Given the description of an element on the screen output the (x, y) to click on. 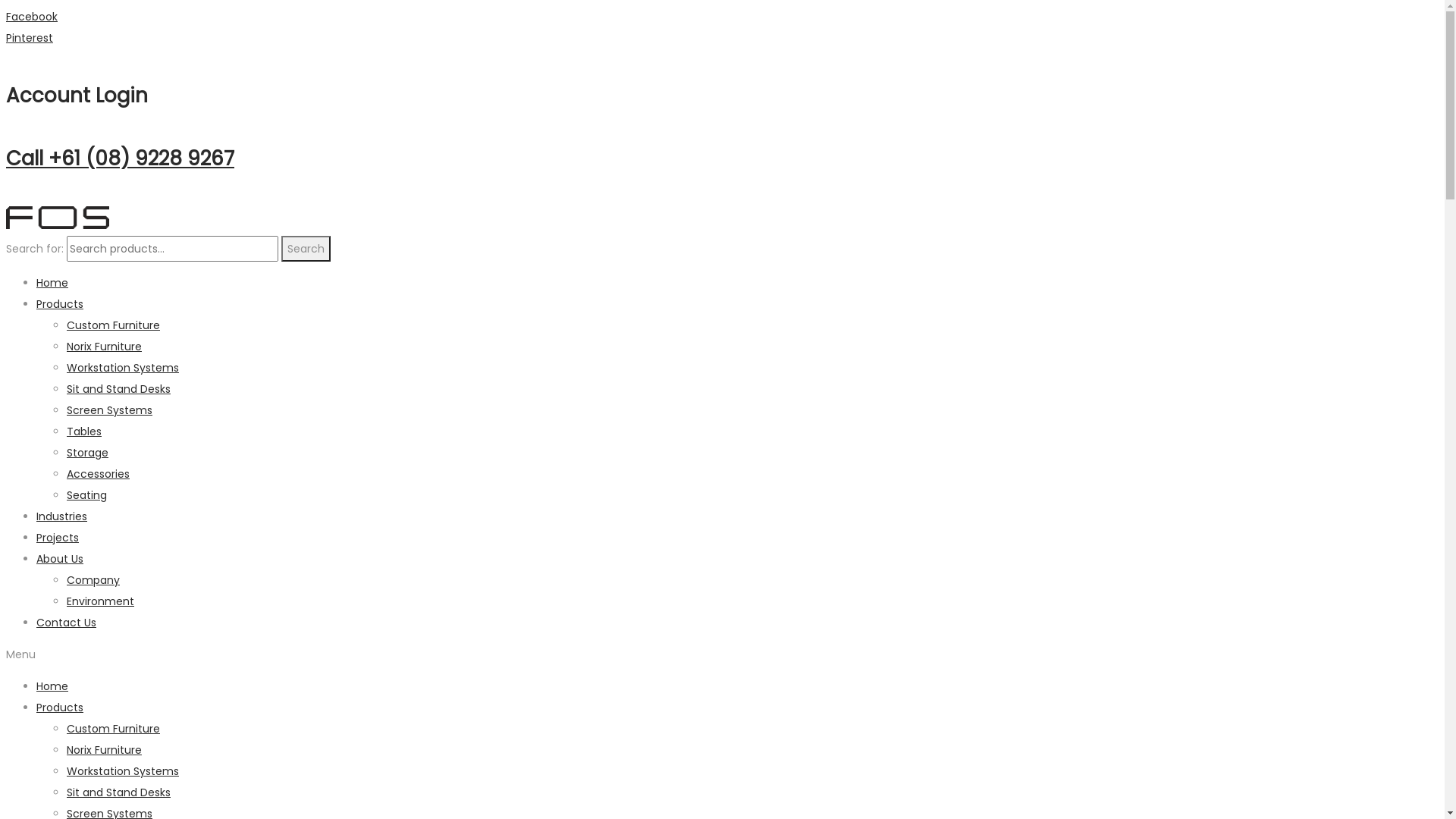
Search Element type: text (305, 248)
Custom Furniture Element type: text (113, 728)
Workstation Systems Element type: text (122, 770)
Accessories Element type: text (97, 473)
Sit and Stand Desks Element type: text (118, 388)
Projects Element type: text (57, 537)
Screen Systems Element type: text (109, 409)
Norix Furniture Element type: text (103, 749)
Facebook Element type: text (31, 16)
About Us Element type: text (59, 558)
Tables Element type: text (83, 431)
Home Element type: text (52, 282)
Pinterest Element type: text (29, 37)
Custom Furniture Element type: text (113, 324)
Call +61 (08) 9228 9267 Element type: text (120, 158)
Products Element type: text (59, 303)
Storage Element type: text (87, 452)
Environment Element type: text (100, 600)
Products Element type: text (59, 707)
Company Element type: text (92, 579)
Contact Us Element type: text (66, 622)
Home Element type: text (52, 685)
Workstation Systems Element type: text (122, 367)
Sit and Stand Desks Element type: text (118, 792)
Norix Furniture Element type: text (103, 346)
Seating Element type: text (86, 494)
Industries Element type: text (61, 516)
